Given the description of an element on the screen output the (x, y) to click on. 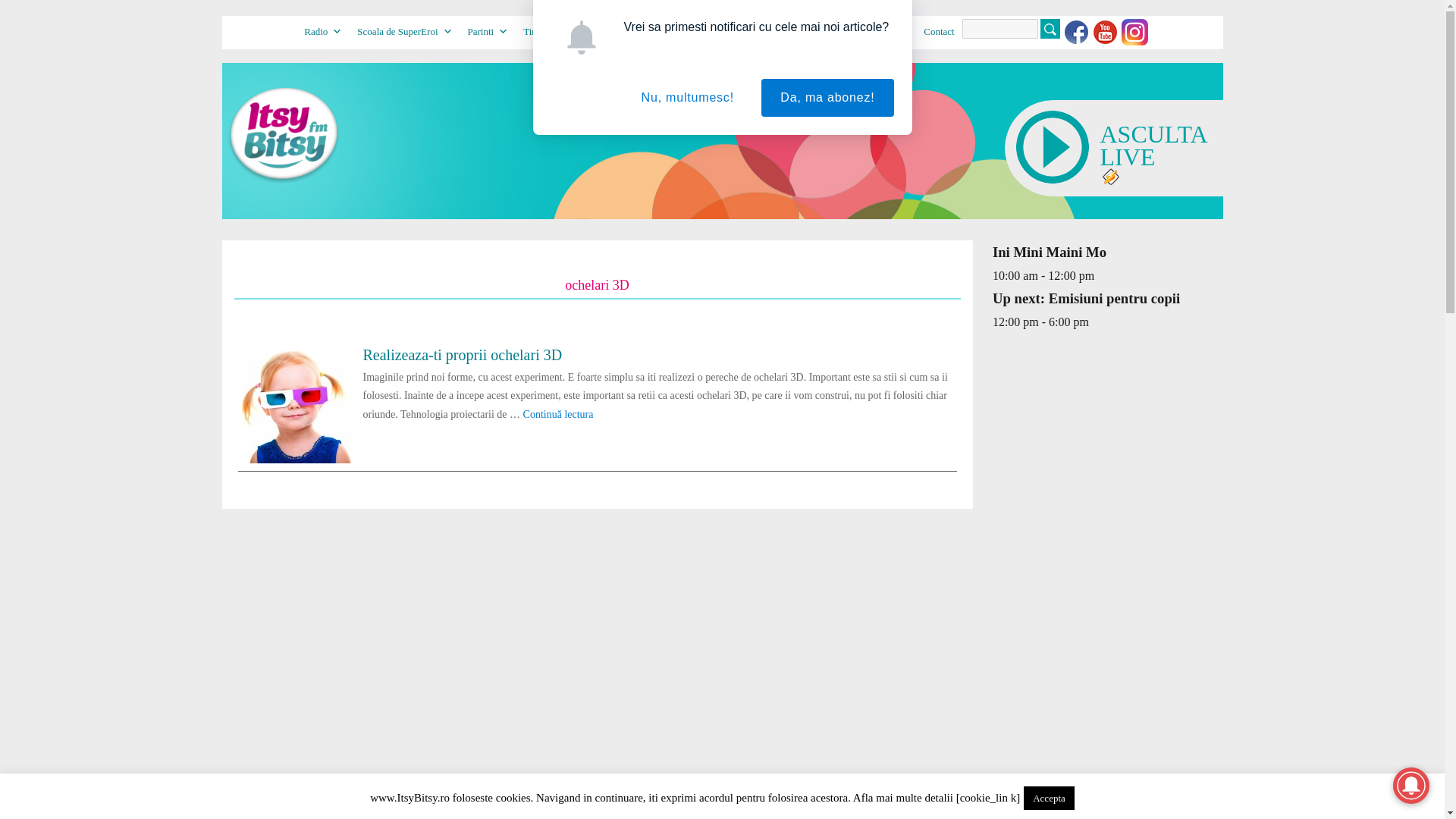
Itsy Bitsy (268, 20)
Scoala de SuperEroi (404, 31)
3rd party ad content (1106, 443)
Parinti (487, 31)
3rd party ad content (1106, 791)
3rd party ad content (1106, 651)
Radio (323, 31)
